Given the description of an element on the screen output the (x, y) to click on. 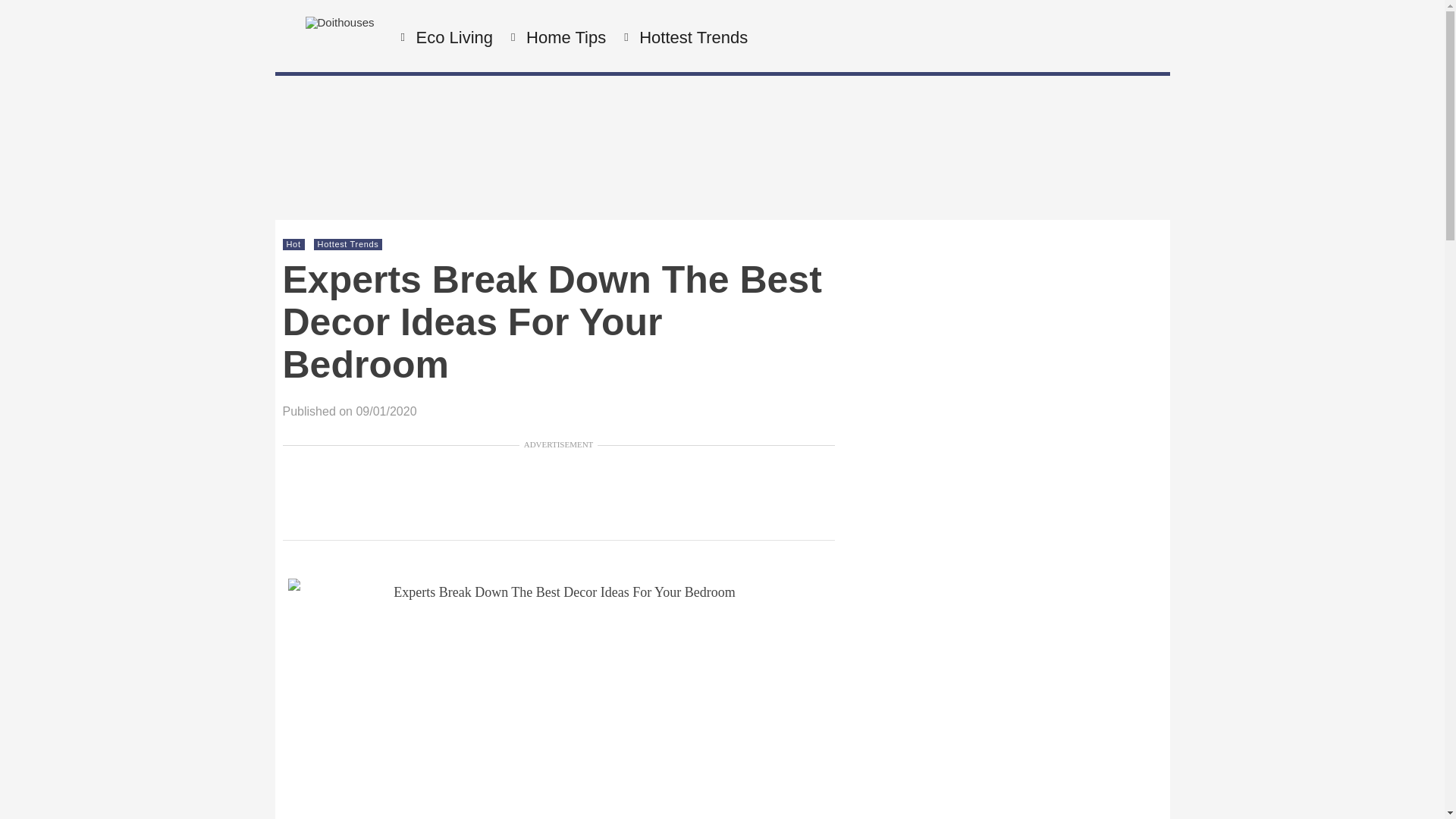
Home Tips (563, 37)
Hottest Trends (691, 37)
Hottest Trends (347, 243)
Hot (293, 243)
Doithouses (339, 21)
Eco Living (452, 37)
